Given the description of an element on the screen output the (x, y) to click on. 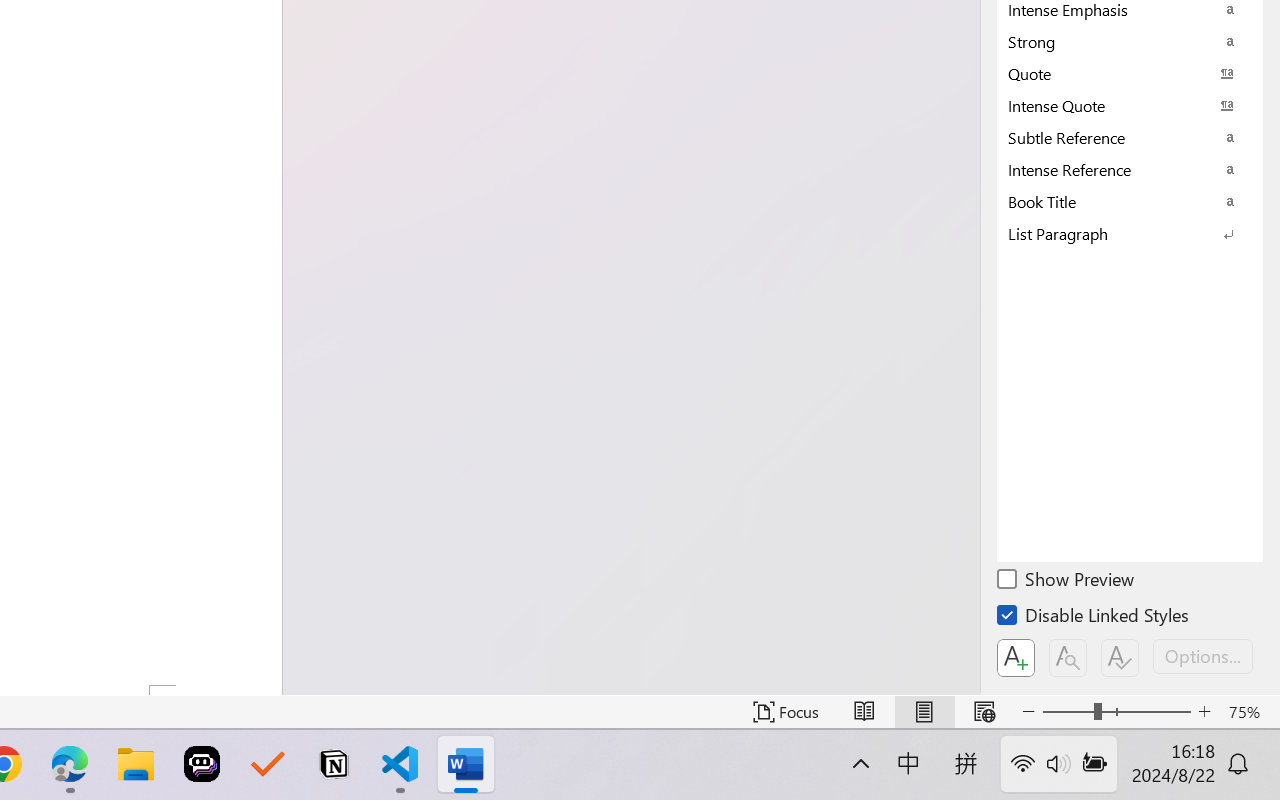
Quote (1130, 73)
Options... (1203, 656)
